Given the description of an element on the screen output the (x, y) to click on. 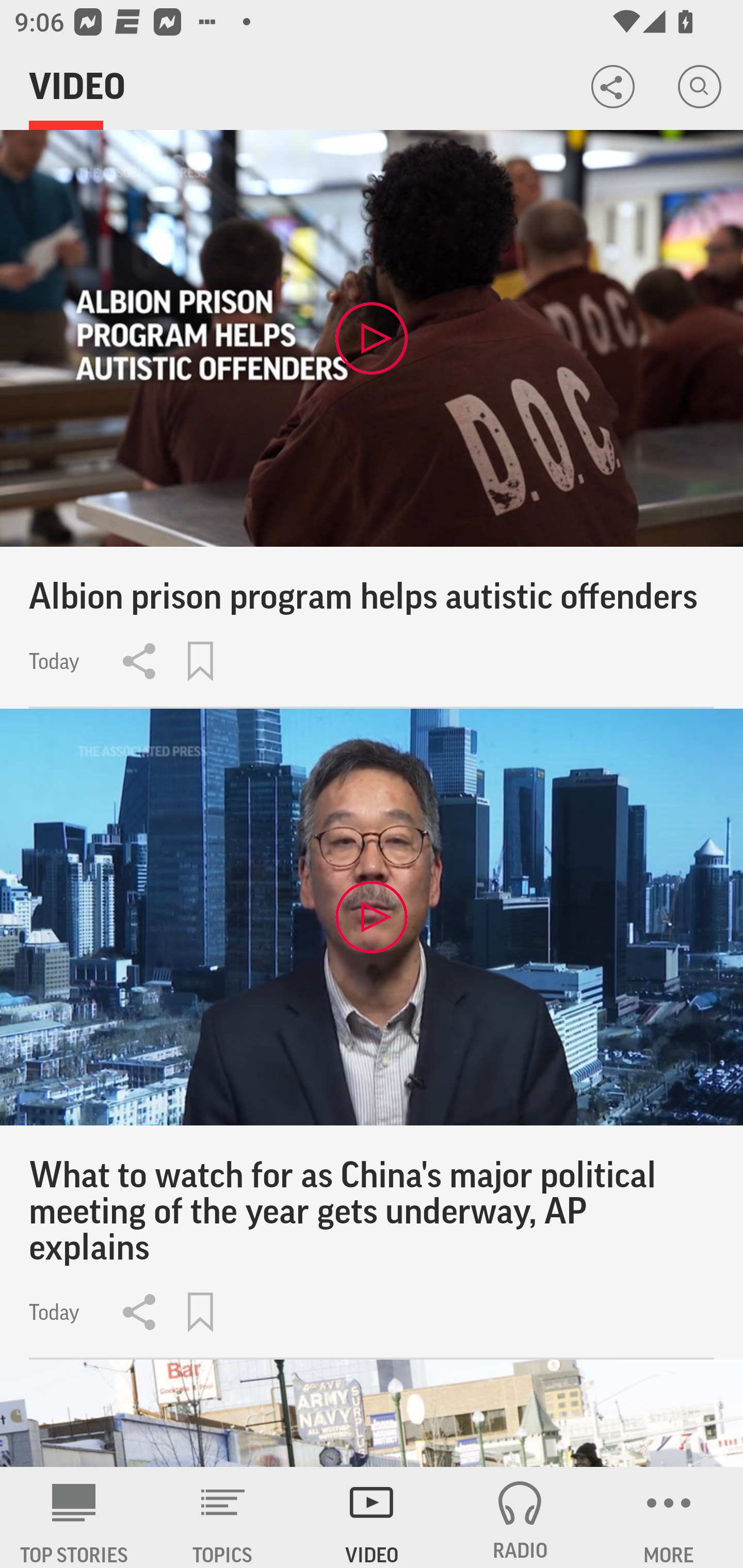
AP News TOP STORIES (74, 1517)
TOPICS (222, 1517)
VIDEO (371, 1517)
RADIO (519, 1517)
MORE (668, 1517)
